Given the description of an element on the screen output the (x, y) to click on. 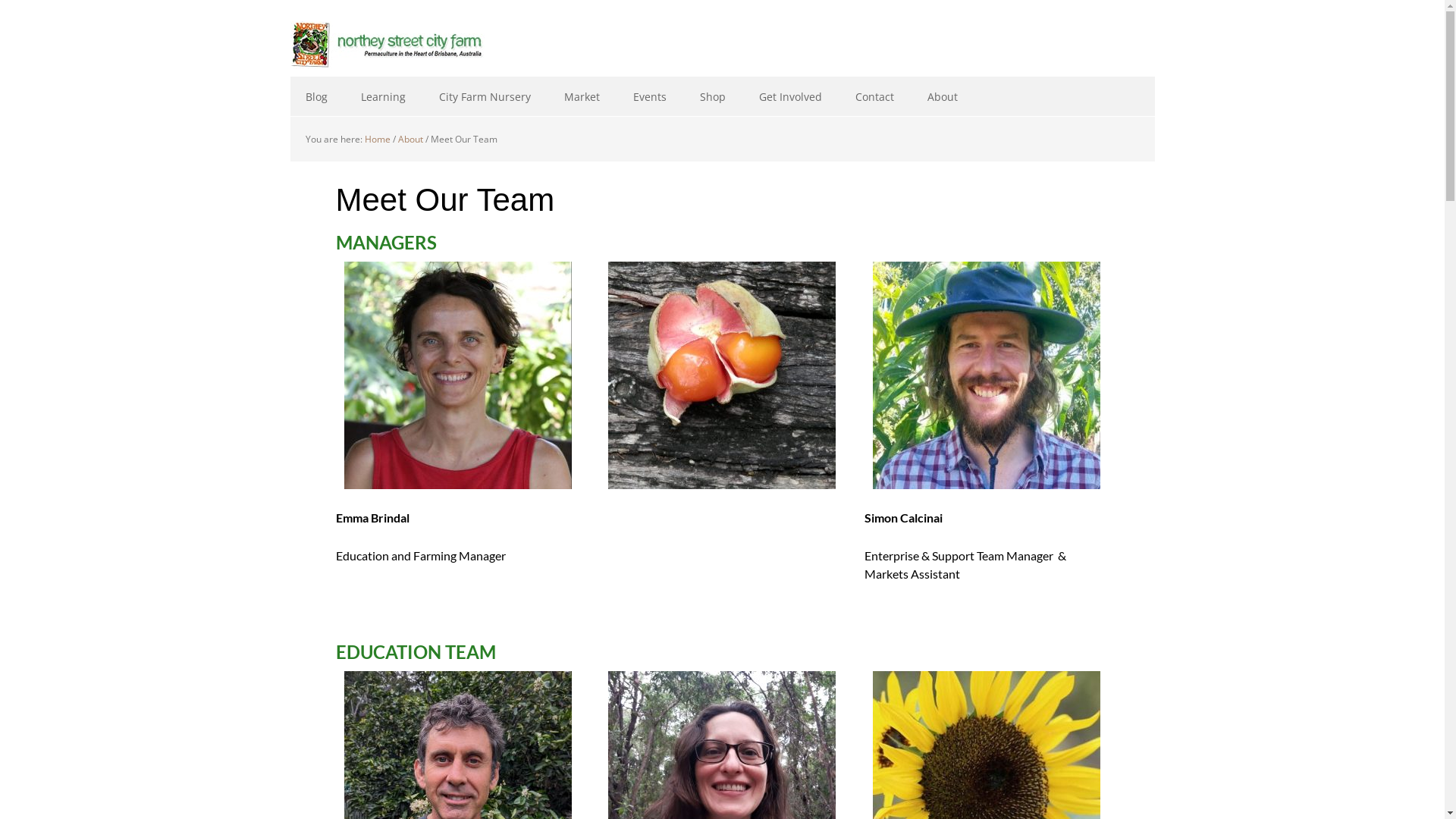
Contact Element type: text (874, 96)
Learning Element type: text (382, 96)
About Element type: text (941, 96)
Get Involved Element type: text (789, 96)
City Farm Nursery Element type: text (484, 96)
Home Element type: text (376, 138)
Northey Street City Farm Element type: hover (387, 36)
Market Element type: text (582, 96)
About Element type: text (409, 138)
Shop Element type: text (712, 96)
Events Element type: text (648, 96)
Northey Street City Farm Element type: hover (387, 45)
Blog Element type: text (315, 96)
